Given the description of an element on the screen output the (x, y) to click on. 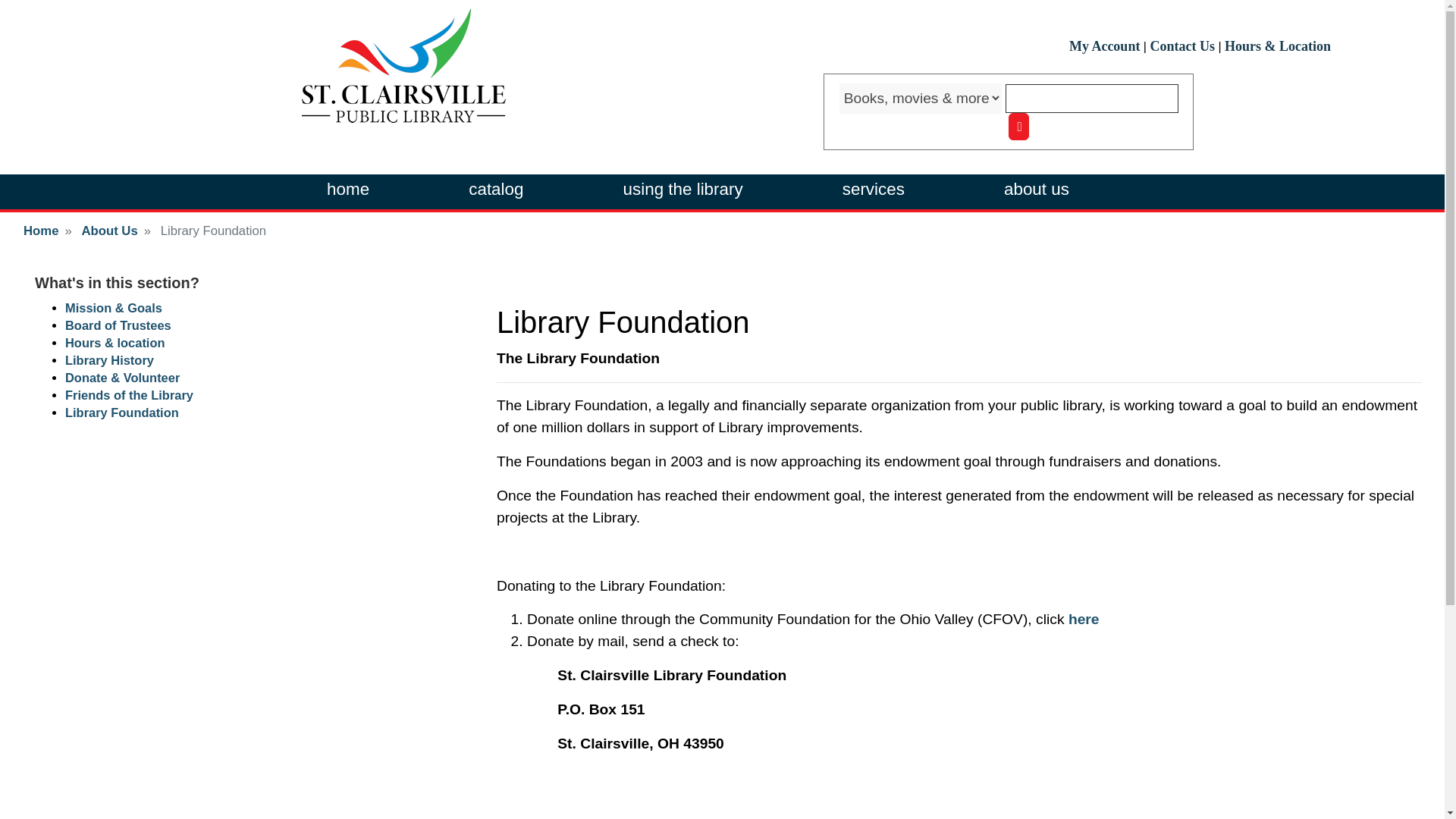
Contact Us (1182, 46)
using the library (682, 189)
Home (40, 230)
home (347, 189)
catalog (496, 189)
Skip to main content (721, 1)
About Us (108, 230)
Home (403, 65)
about us (1036, 189)
services (873, 189)
